Given the description of an element on the screen output the (x, y) to click on. 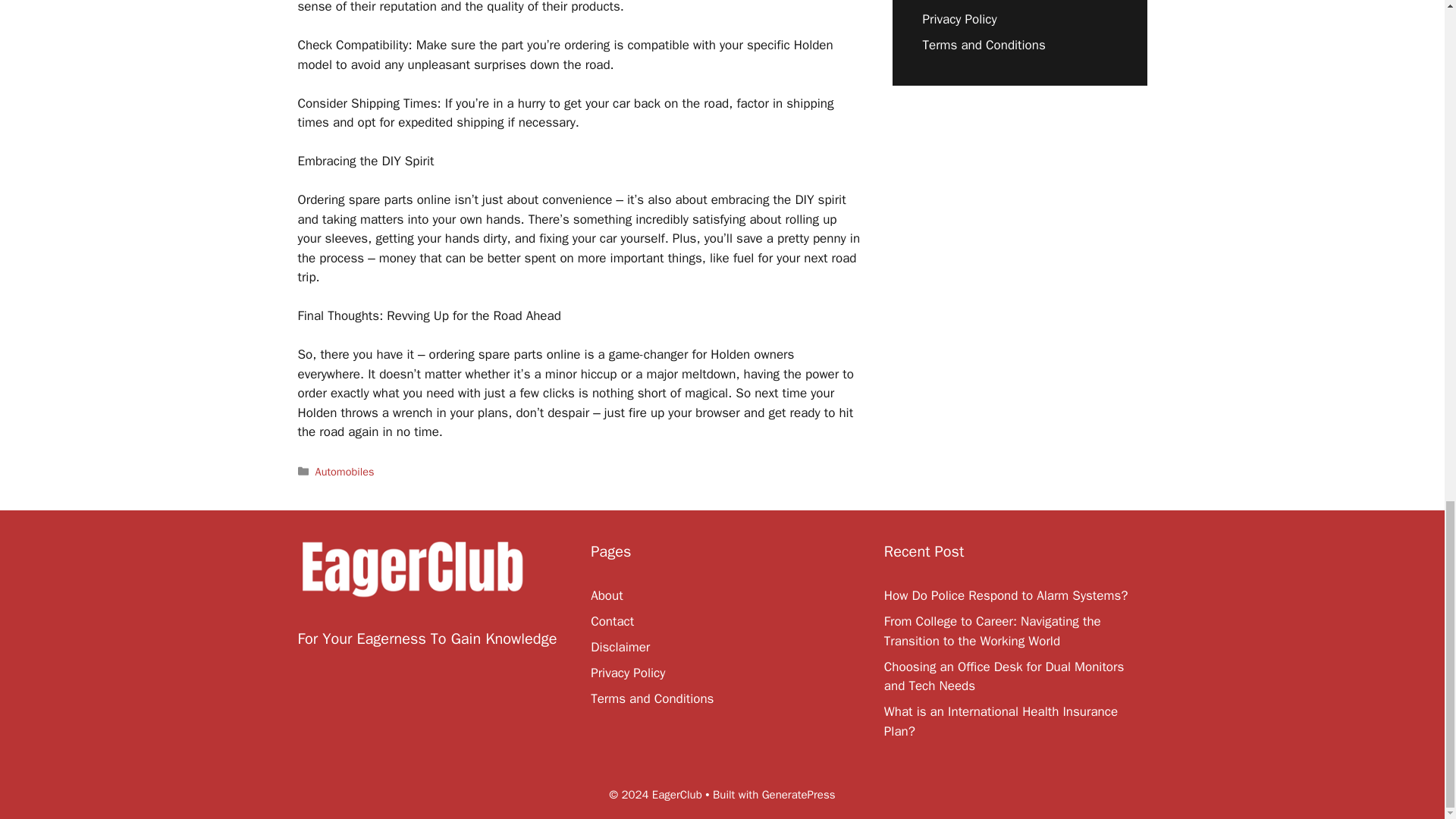
Automobiles (344, 471)
